Given the description of an element on the screen output the (x, y) to click on. 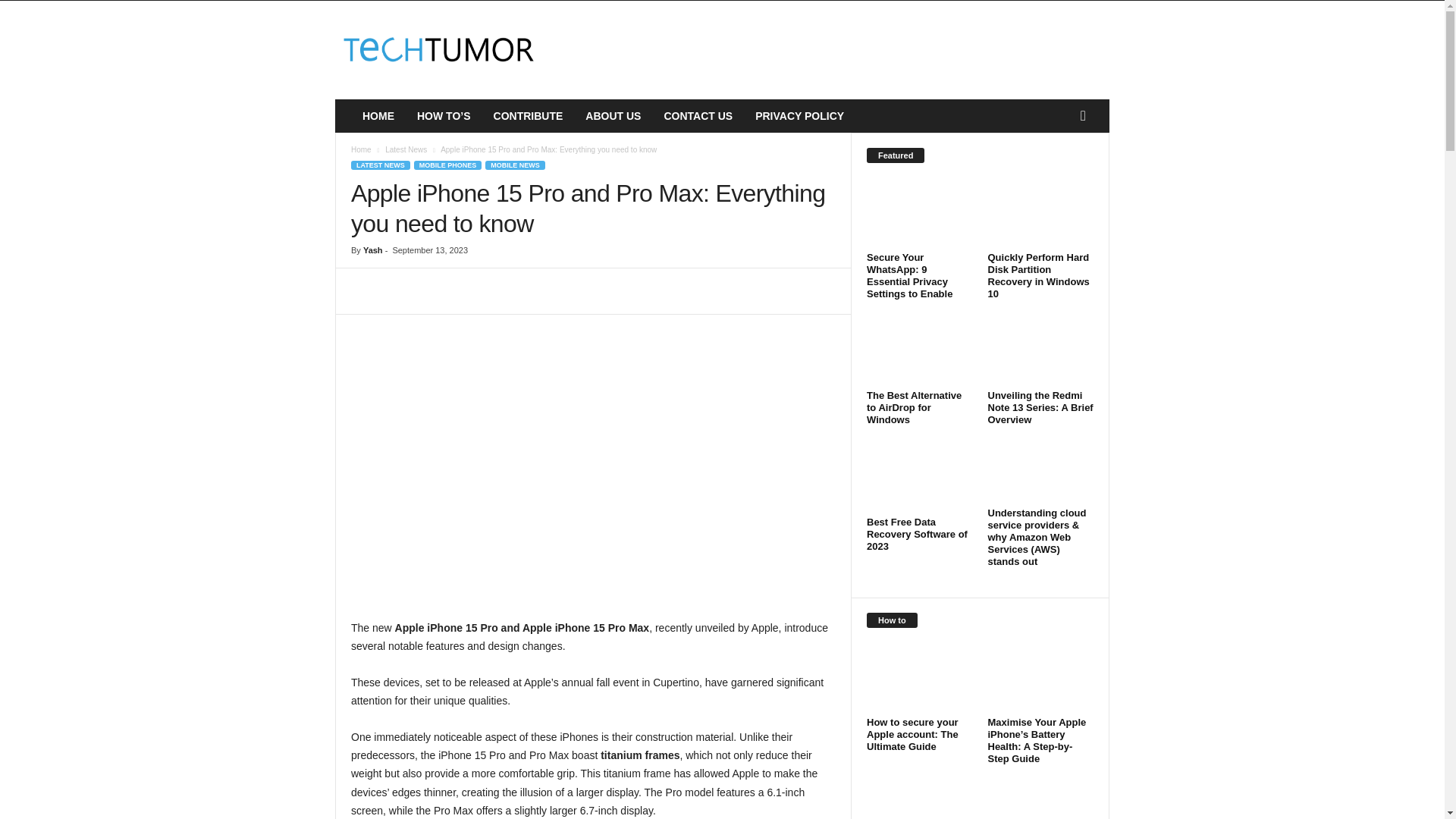
PRIVACY POLICY (800, 115)
CONTRIBUTE (528, 115)
ABOUT US (612, 115)
Latest News (405, 149)
Yash (372, 249)
Tech Tumor (437, 49)
MOBILE NEWS (514, 164)
Home (360, 149)
View all posts in Latest News (405, 149)
CONTACT US (698, 115)
HOME (378, 115)
MOBILE PHONES (447, 164)
LATEST NEWS (380, 164)
